Given the description of an element on the screen output the (x, y) to click on. 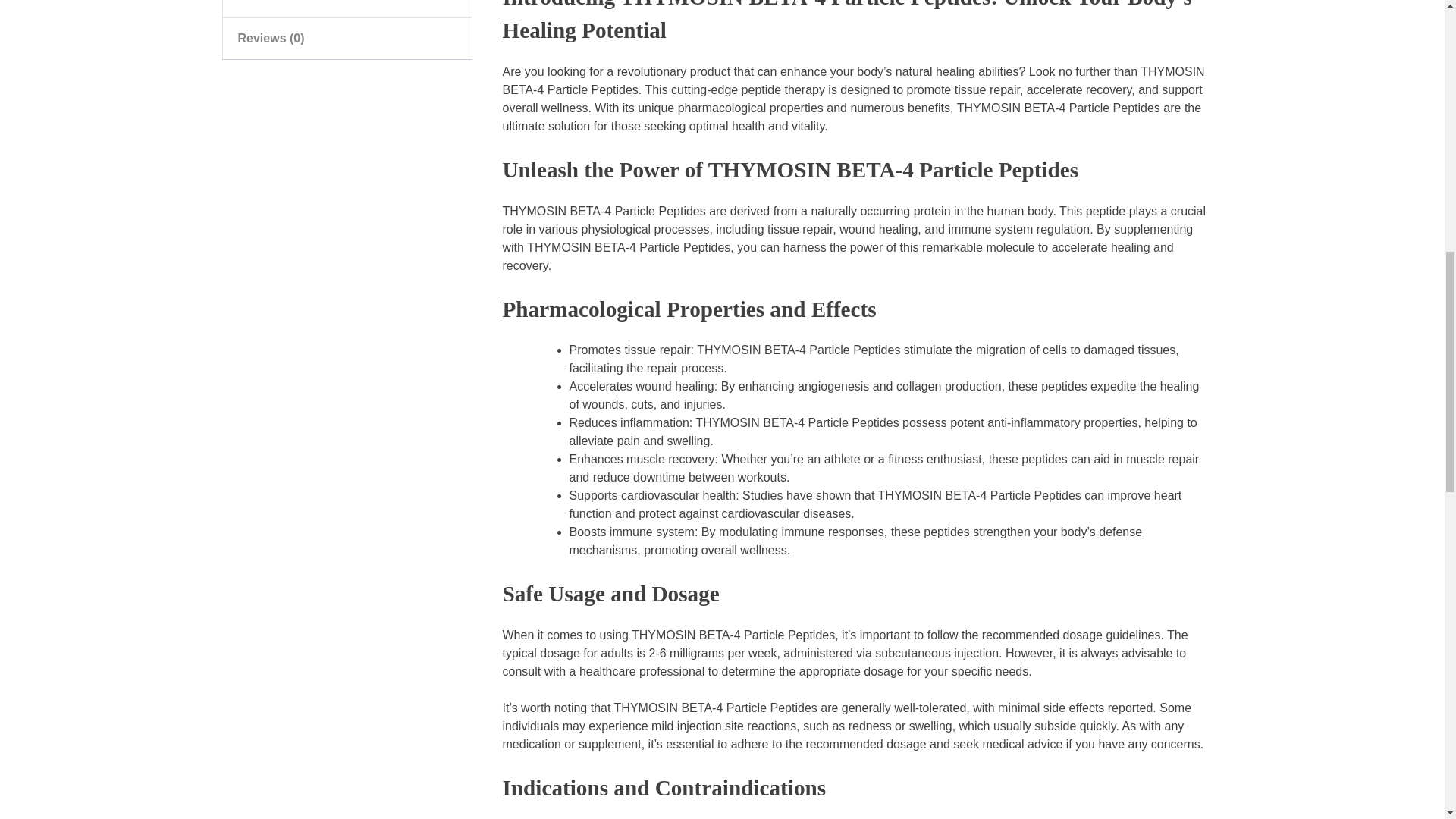
Additional information (346, 8)
